Given the description of an element on the screen output the (x, y) to click on. 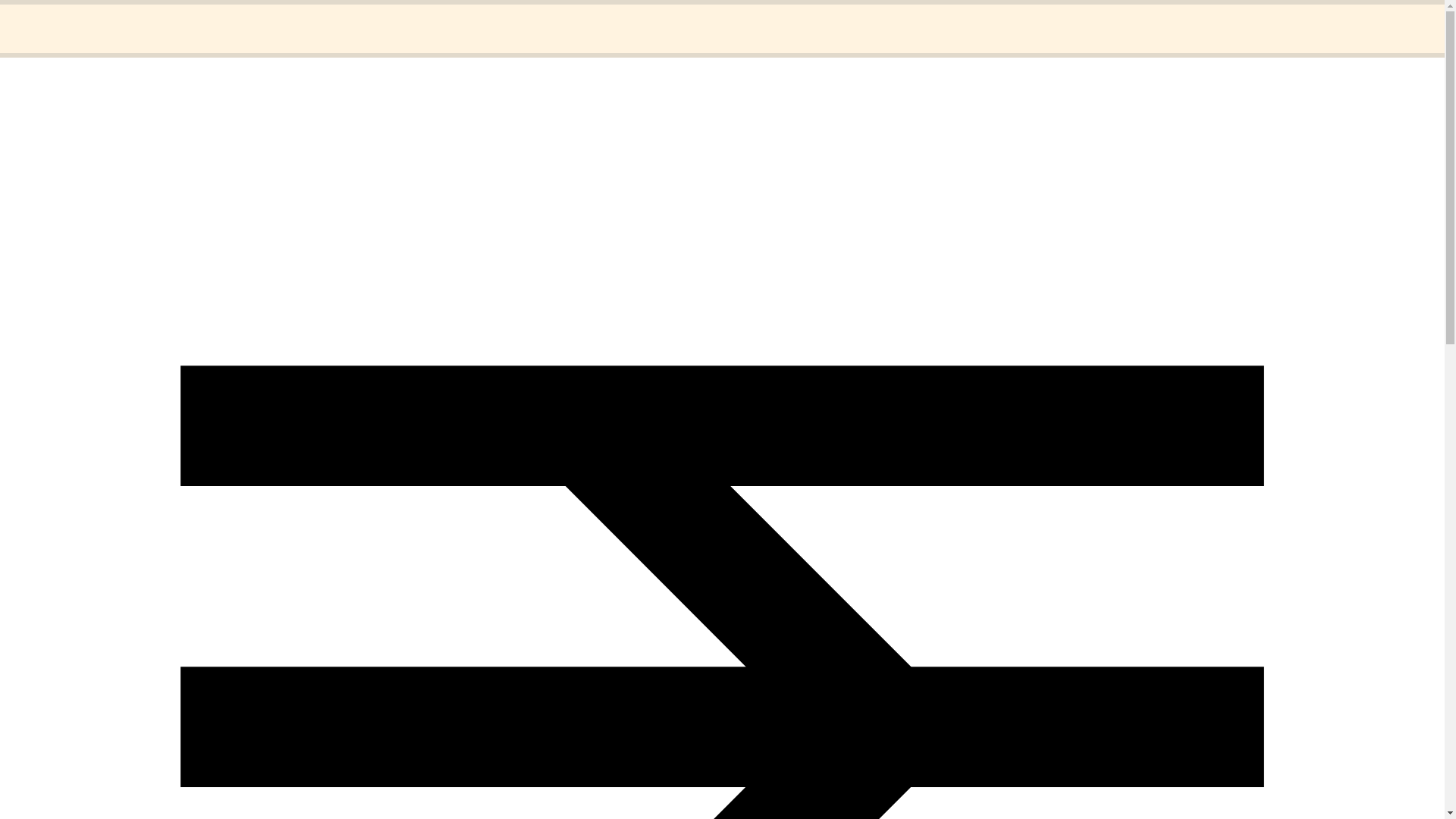
Home (50, 18)
